Given the description of an element on the screen output the (x, y) to click on. 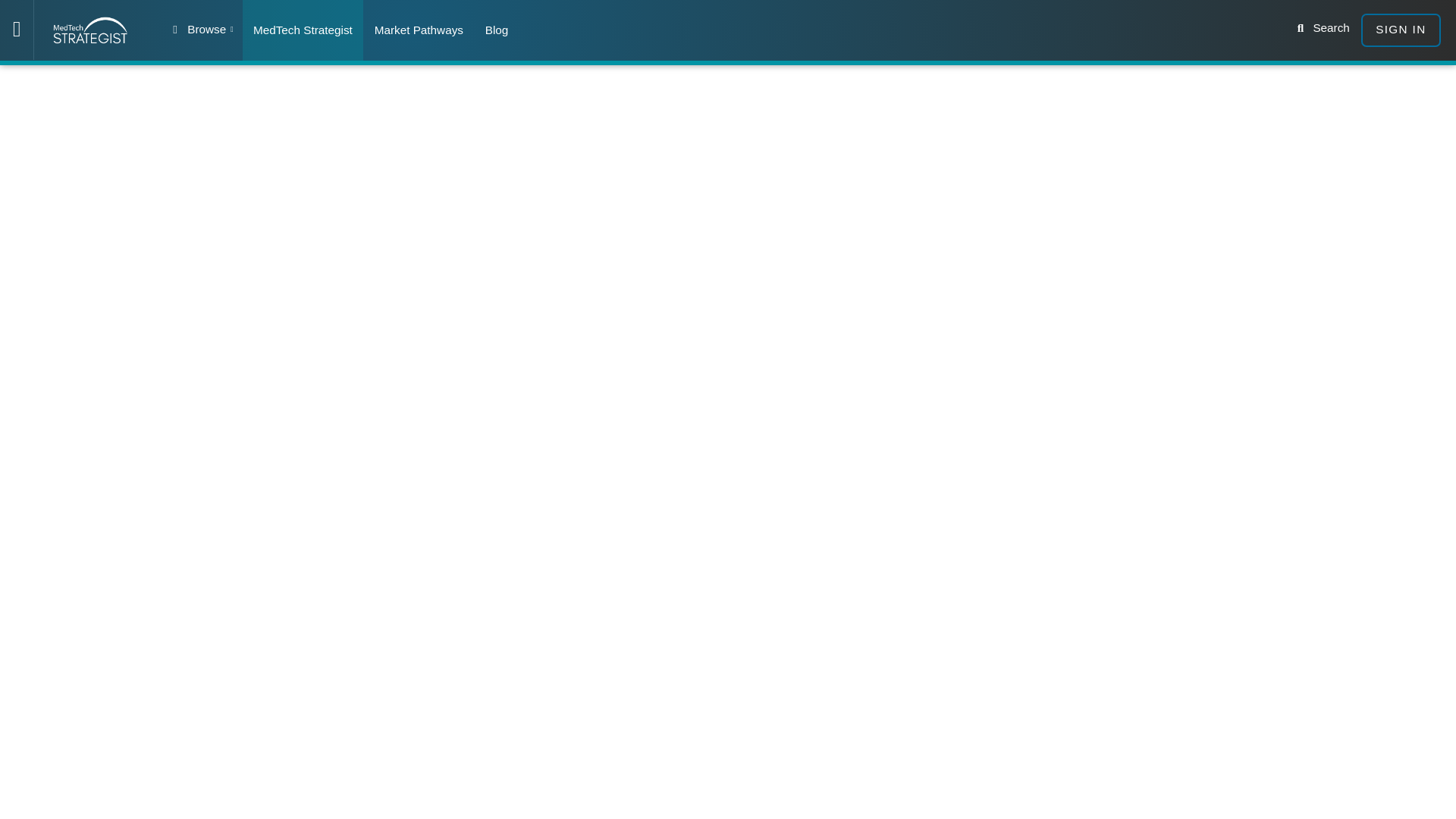
Browse (201, 30)
